Given the description of an element on the screen output the (x, y) to click on. 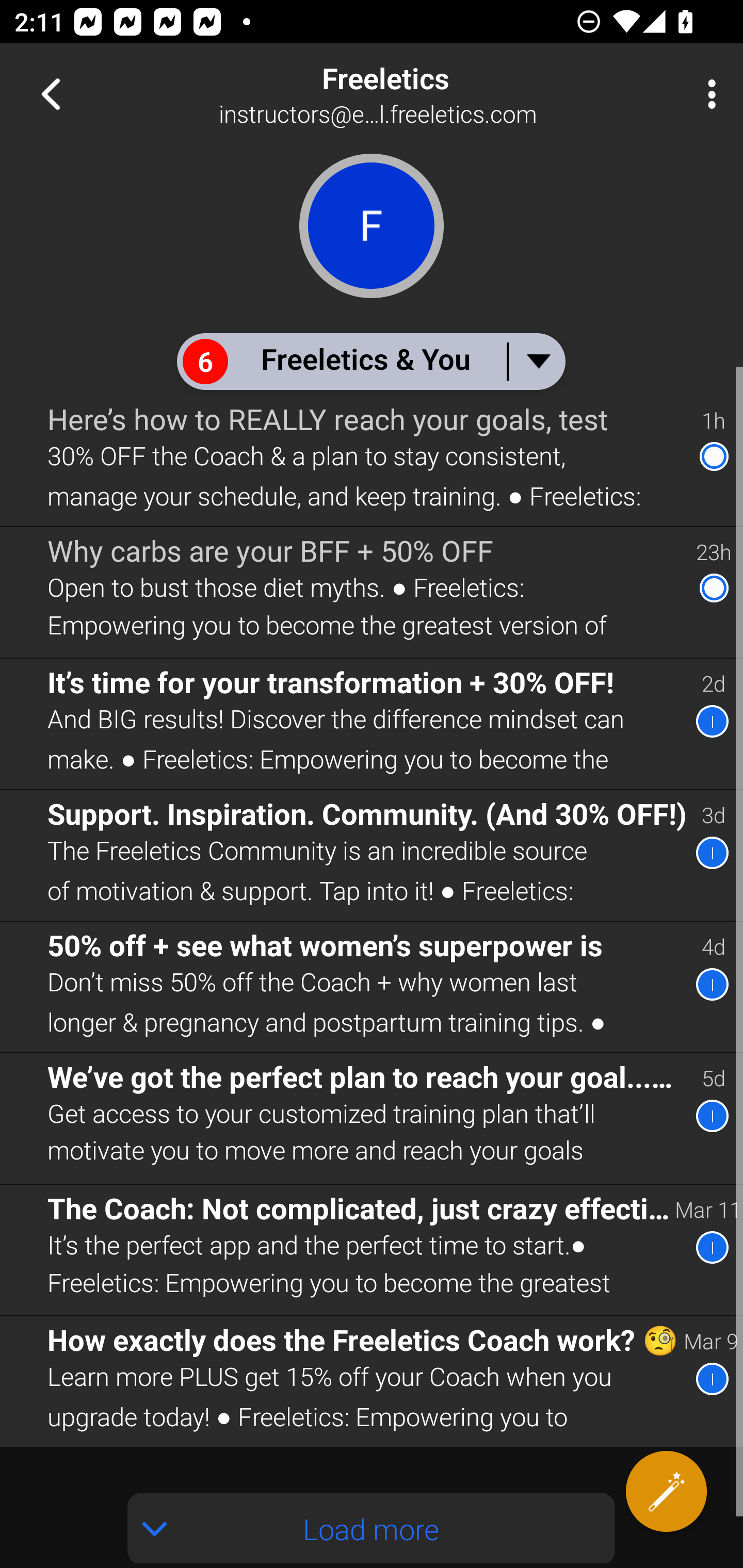
Navigate up (50, 93)
Freeletics instructors@email.freeletics.com (436, 93)
More Options (706, 93)
6 Freeletics & You (370, 361)
Load more (371, 1527)
